Given the description of an element on the screen output the (x, y) to click on. 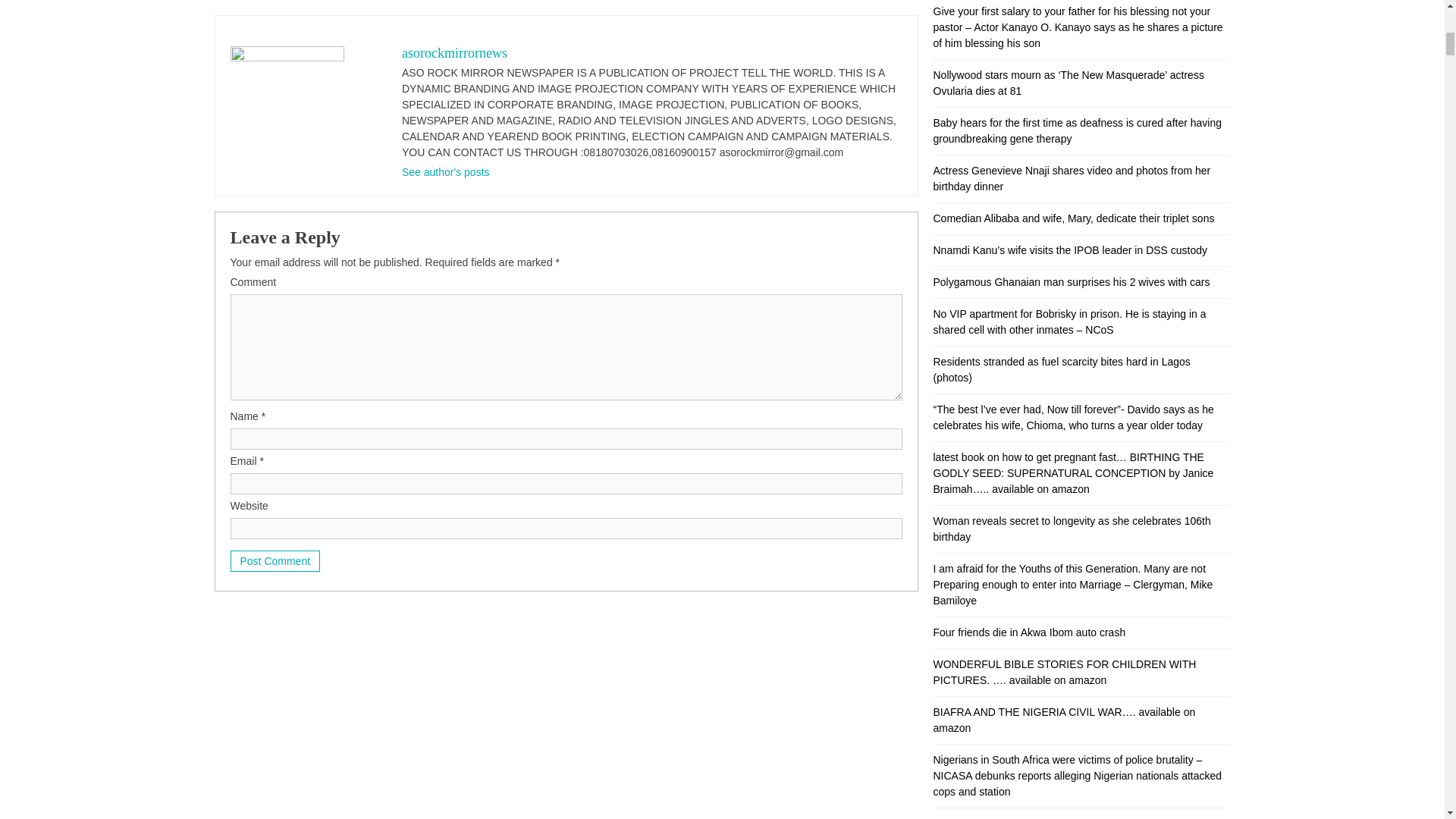
Post Comment (275, 560)
See author's posts (445, 172)
asorockmirrornews (453, 52)
Post Comment (275, 560)
